Given the description of an element on the screen output the (x, y) to click on. 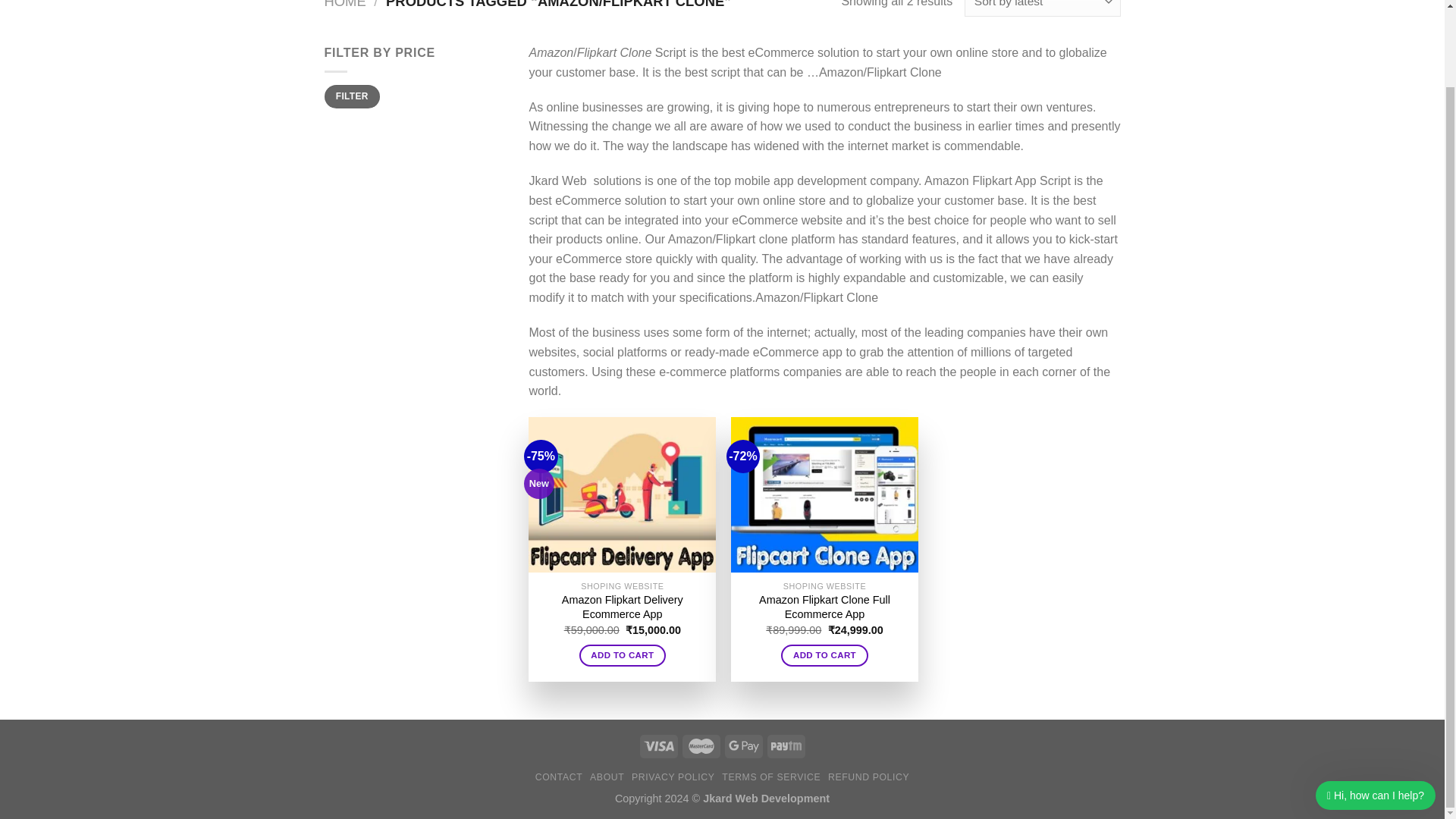
HOME (345, 4)
Amazon Flipkart Delivery Ecommerce App (621, 606)
ABOUT (606, 777)
FILTER (352, 96)
ADD TO CART (622, 655)
TERMS OF SERVICE (771, 777)
CONTACT (559, 777)
PRIVACY POLICY (672, 777)
REFUND POLICY (868, 777)
Amazon Flipkart Clone Full Ecommerce App (824, 606)
ADD TO CART (823, 655)
